Given the description of an element on the screen output the (x, y) to click on. 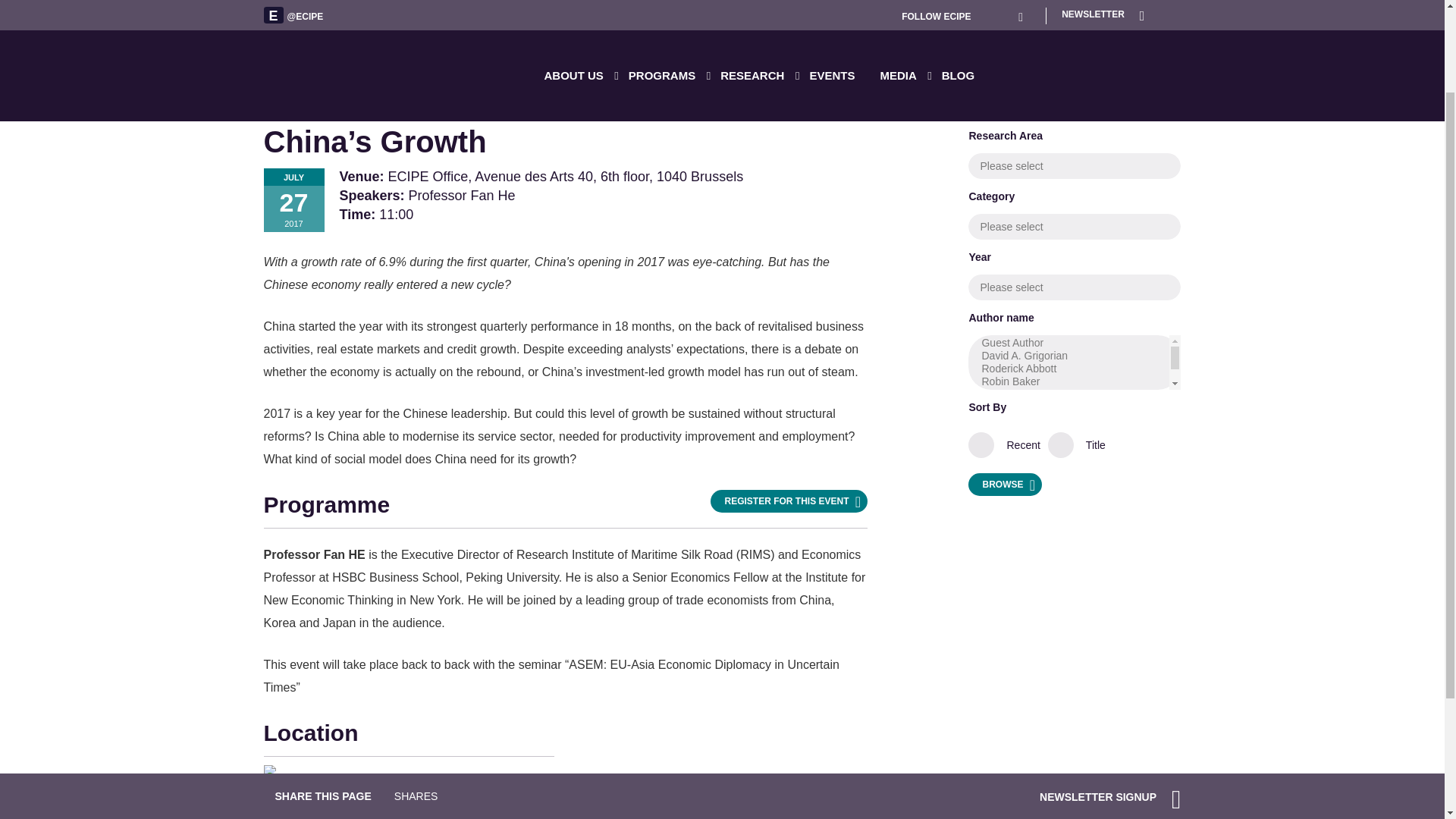
Go to the Far-East Category archives. (399, 41)
PROGRAMS (669, 5)
ABOUT US (581, 5)
Go to Events. (315, 41)
recent (989, 447)
Go to the Regions Category archives. (355, 41)
title (1061, 447)
Go to ECIPE. (277, 41)
